Given the description of an element on the screen output the (x, y) to click on. 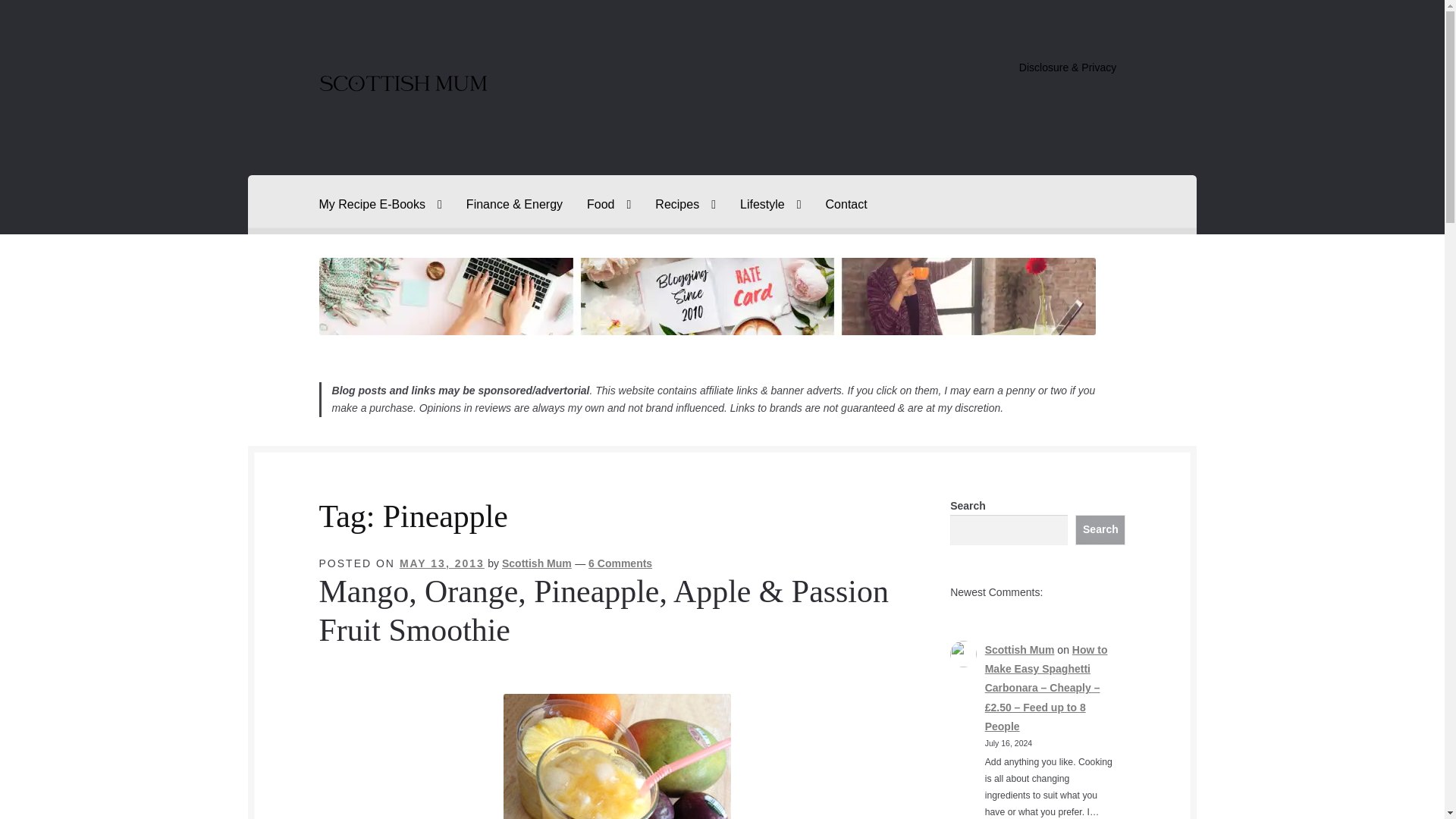
Lifestyle (770, 204)
Recipes (685, 204)
Food (609, 204)
My Recipe E-Books (380, 204)
